Given the description of an element on the screen output the (x, y) to click on. 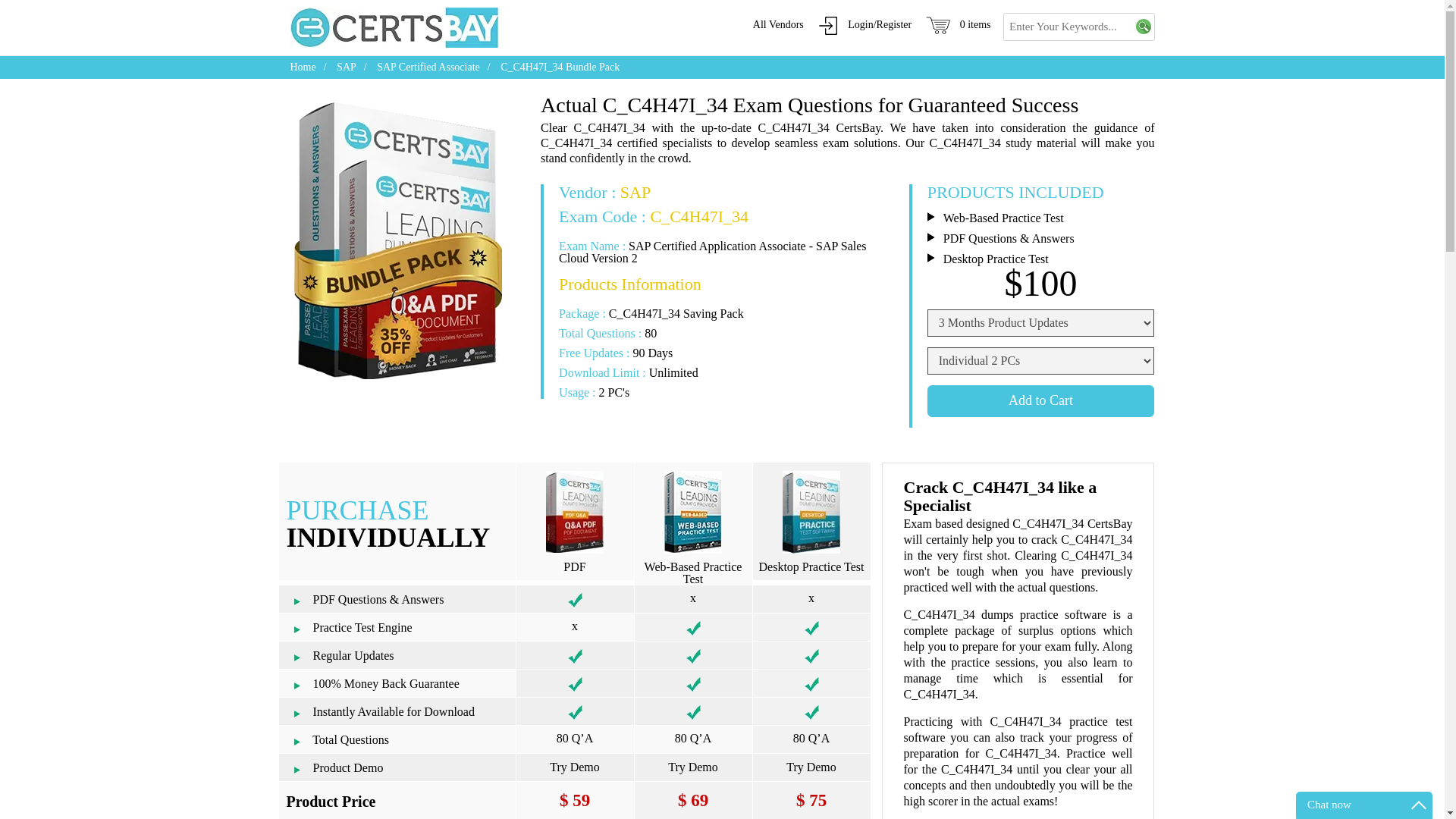
Add to Cart (1040, 400)
Try Demo (811, 766)
0 items (956, 24)
Try Demo (692, 766)
All Vendors (777, 24)
Home (302, 66)
SAP (346, 66)
Try Demo (574, 766)
SAP Certified Associate (428, 66)
Maximize (1418, 805)
